Given the description of an element on the screen output the (x, y) to click on. 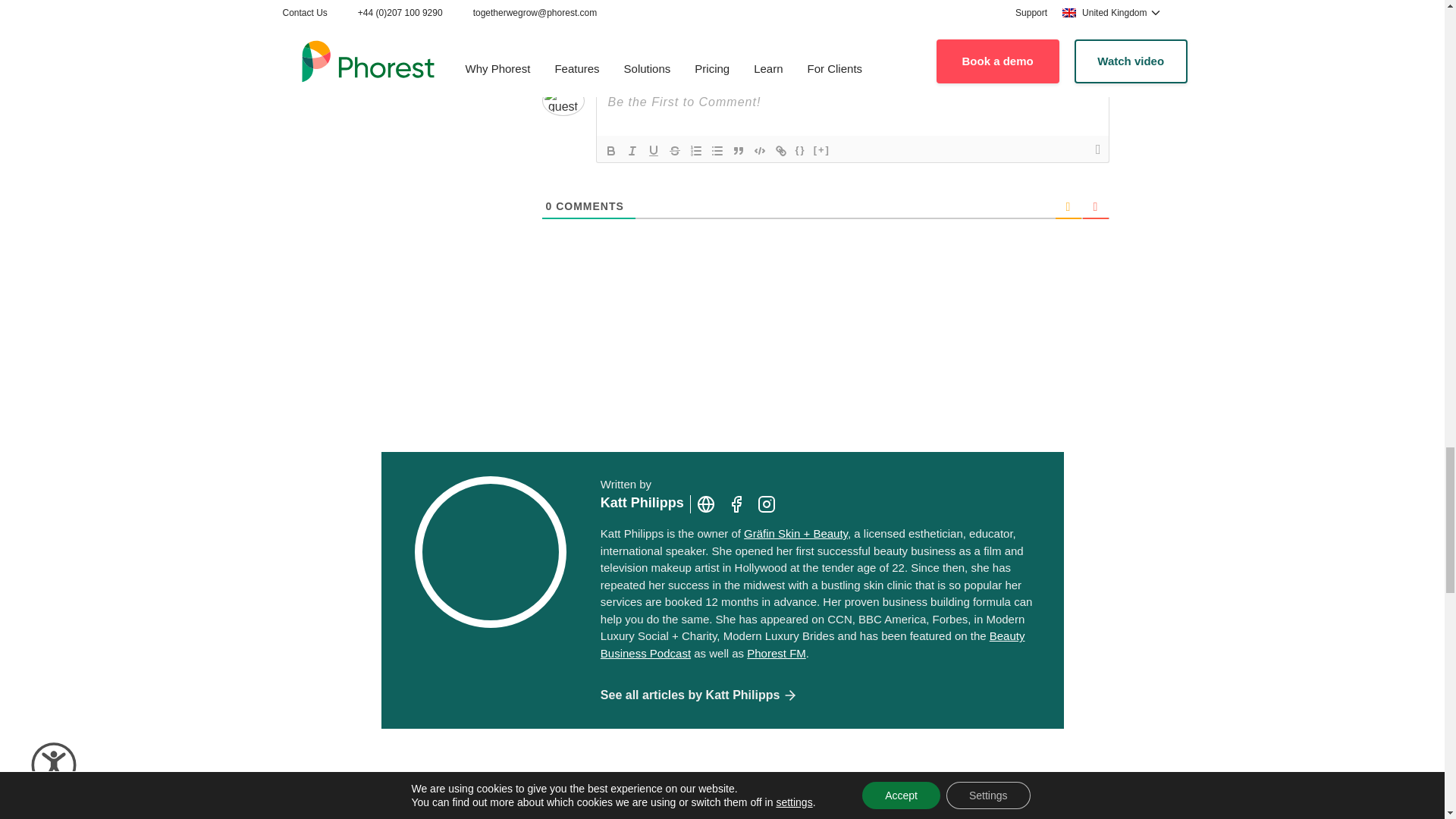
Source Code (800, 150)
Code Block (759, 150)
Underline (653, 150)
Unordered List (717, 150)
Ordered List (695, 150)
Strike (674, 150)
Link (781, 150)
Spoiler (821, 150)
Italic (632, 150)
Blockquote (738, 150)
Bold (610, 150)
